Given the description of an element on the screen output the (x, y) to click on. 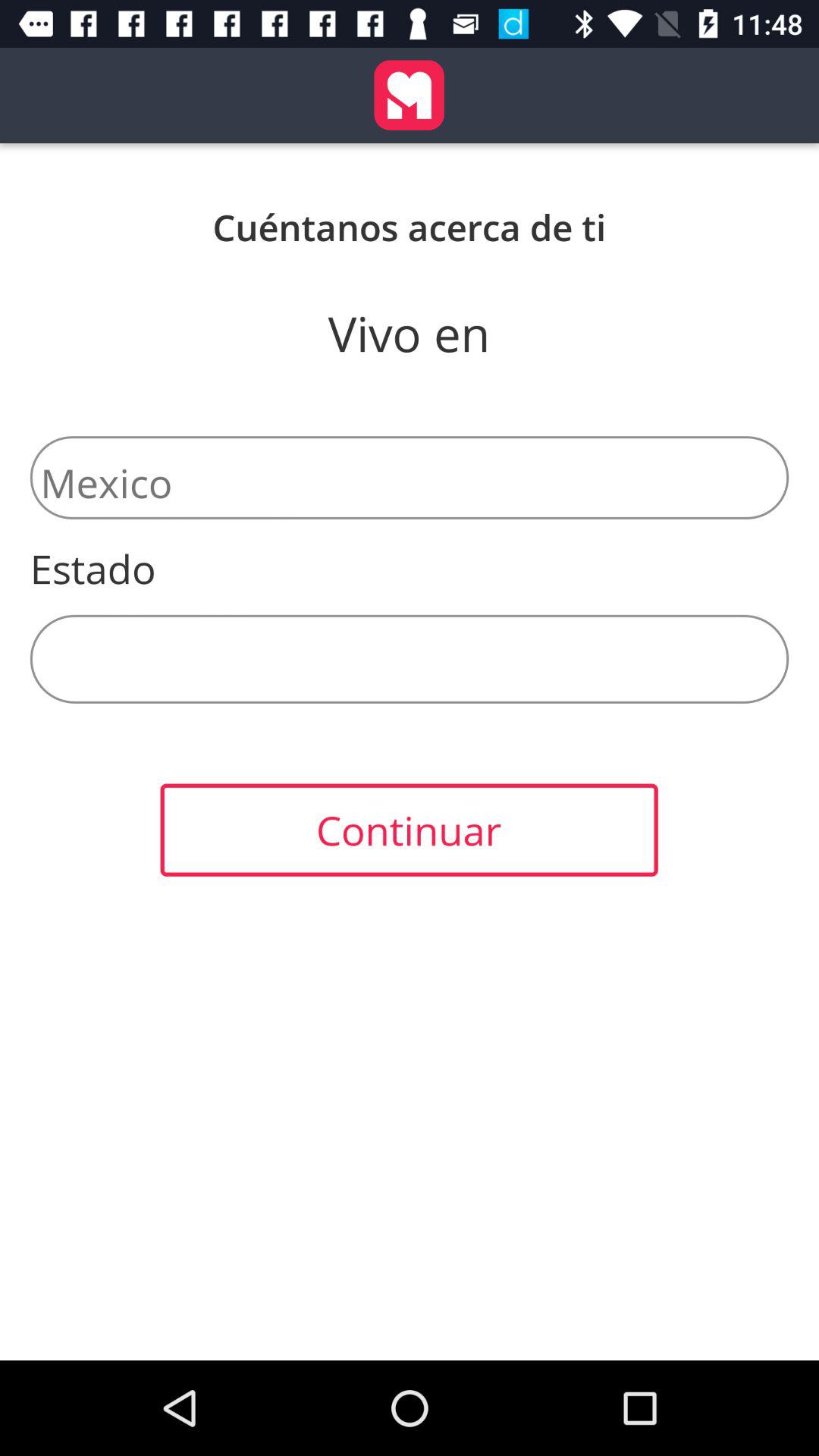
swipe to the mexico item (409, 477)
